Given the description of an element on the screen output the (x, y) to click on. 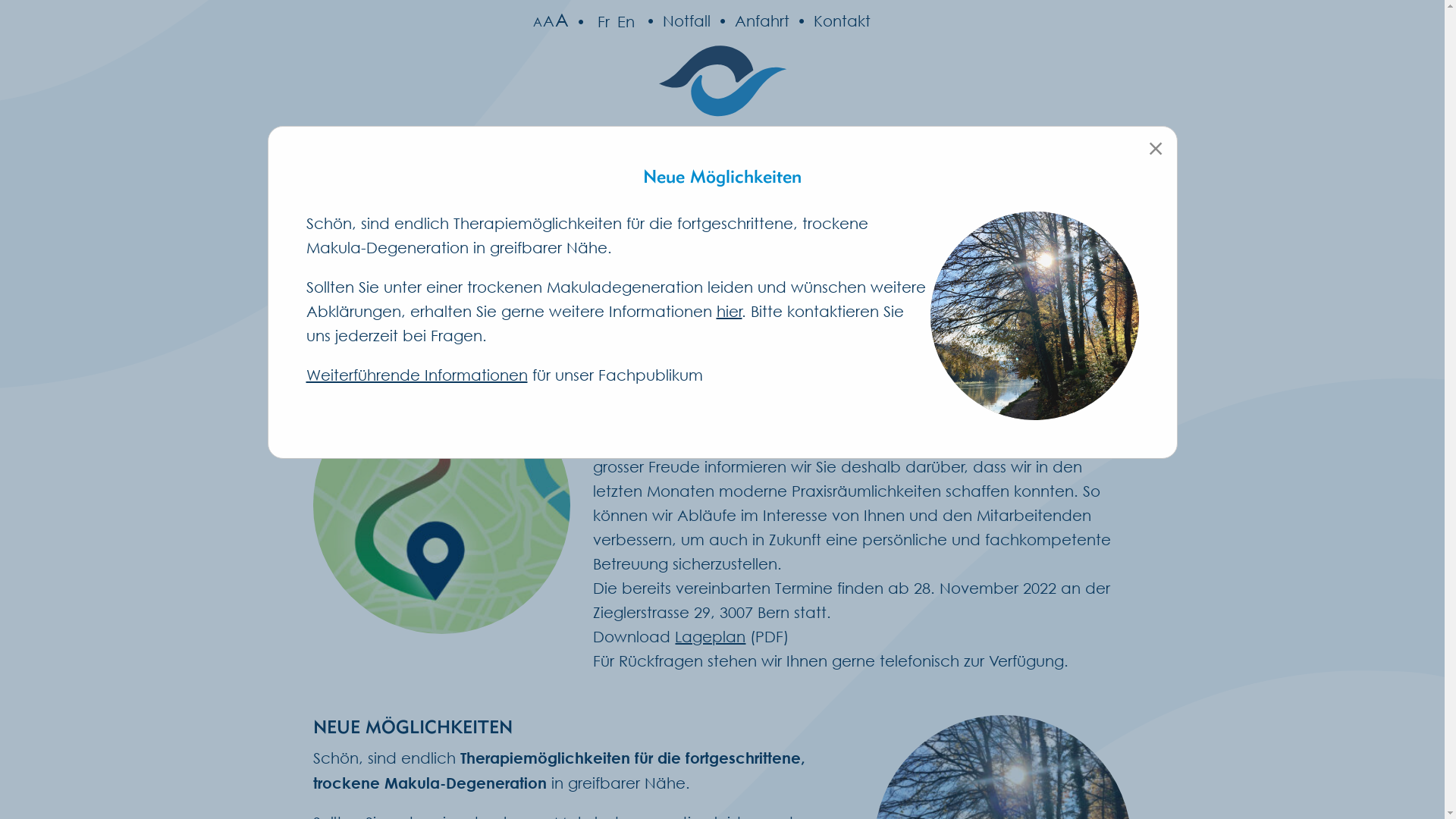
Zieglerstrasse 29 in 3007 Element type: text (901, 442)
A Element type: text (561, 19)
Kontakt Element type: text (828, 20)
FACHPUBLIKUM Element type: text (740, 179)
TERMINE Element type: text (1044, 179)
Anfahrt Element type: text (748, 20)
Lageplan Element type: text (709, 636)
hier Element type: text (728, 311)
A Element type: text (536, 21)
PATIENTEN Element type: text (559, 179)
A Element type: text (548, 20)
AKTUELL Element type: text (911, 179)
Notfall Element type: text (674, 20)
